Given the description of an element on the screen output the (x, y) to click on. 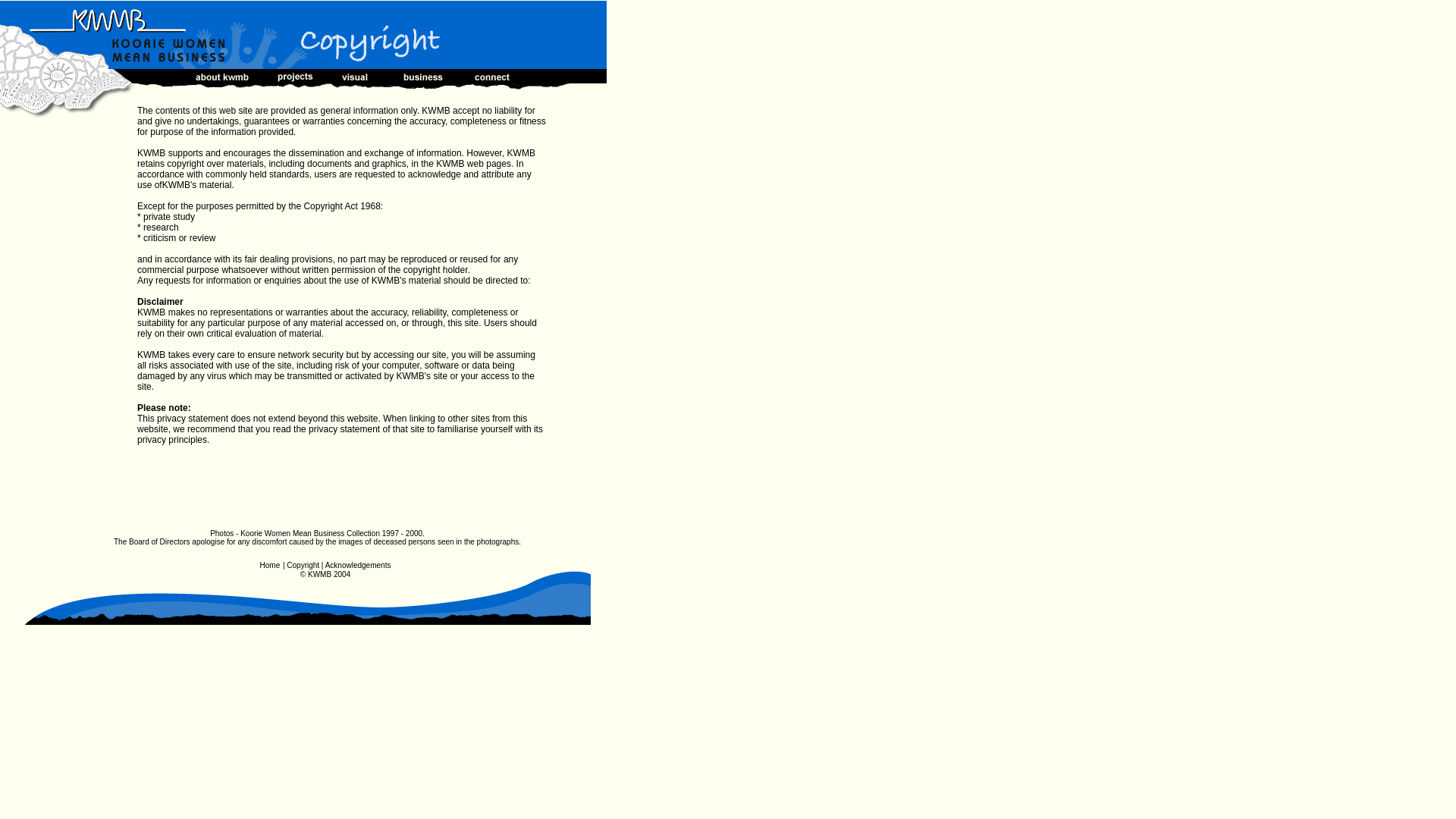
Acknowledgements Element type: text (358, 563)
Copyright Element type: text (302, 565)
Home Element type: text (270, 565)
